Given the description of an element on the screen output the (x, y) to click on. 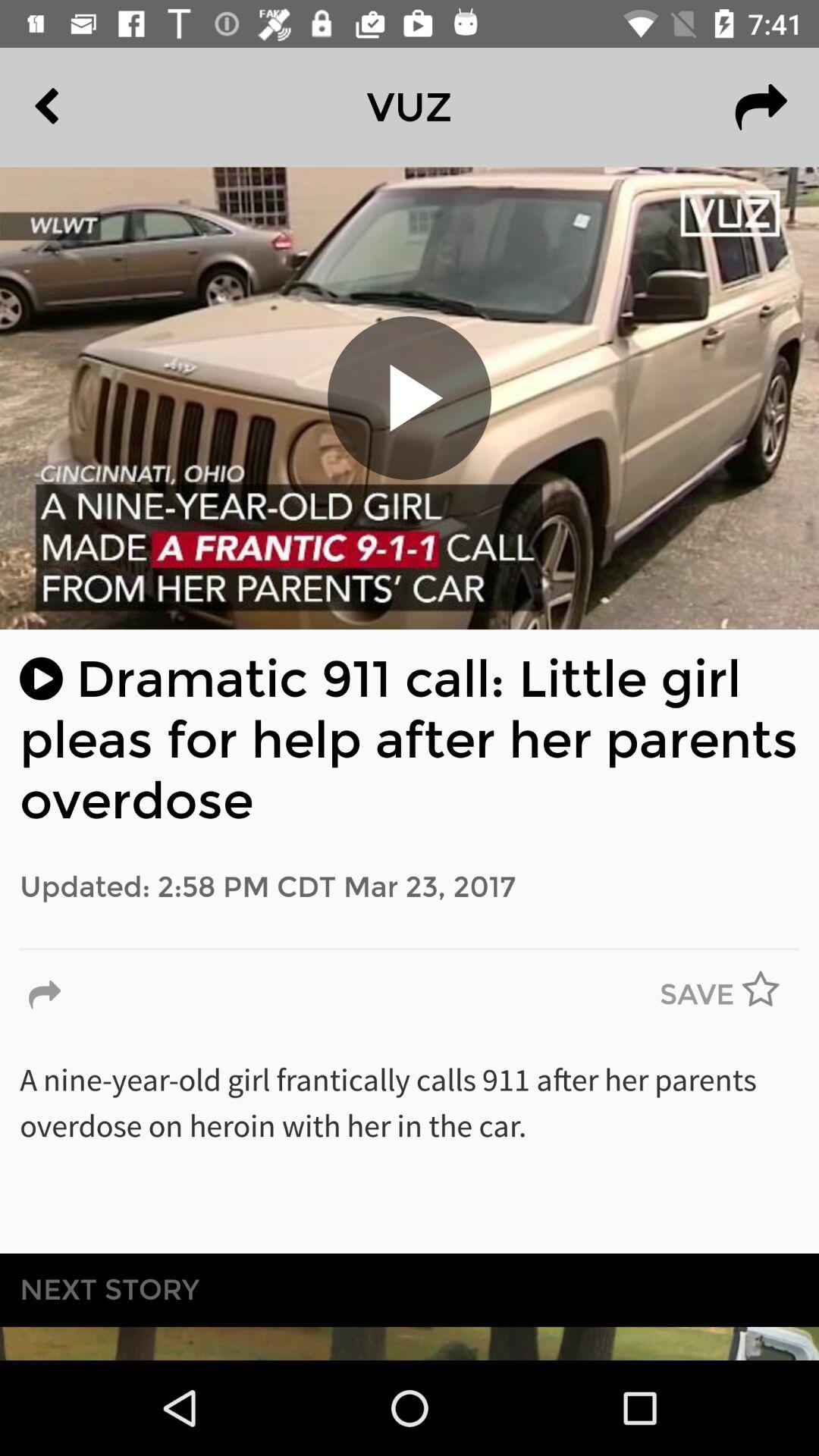
select item to the left of save (44, 995)
